Given the description of an element on the screen output the (x, y) to click on. 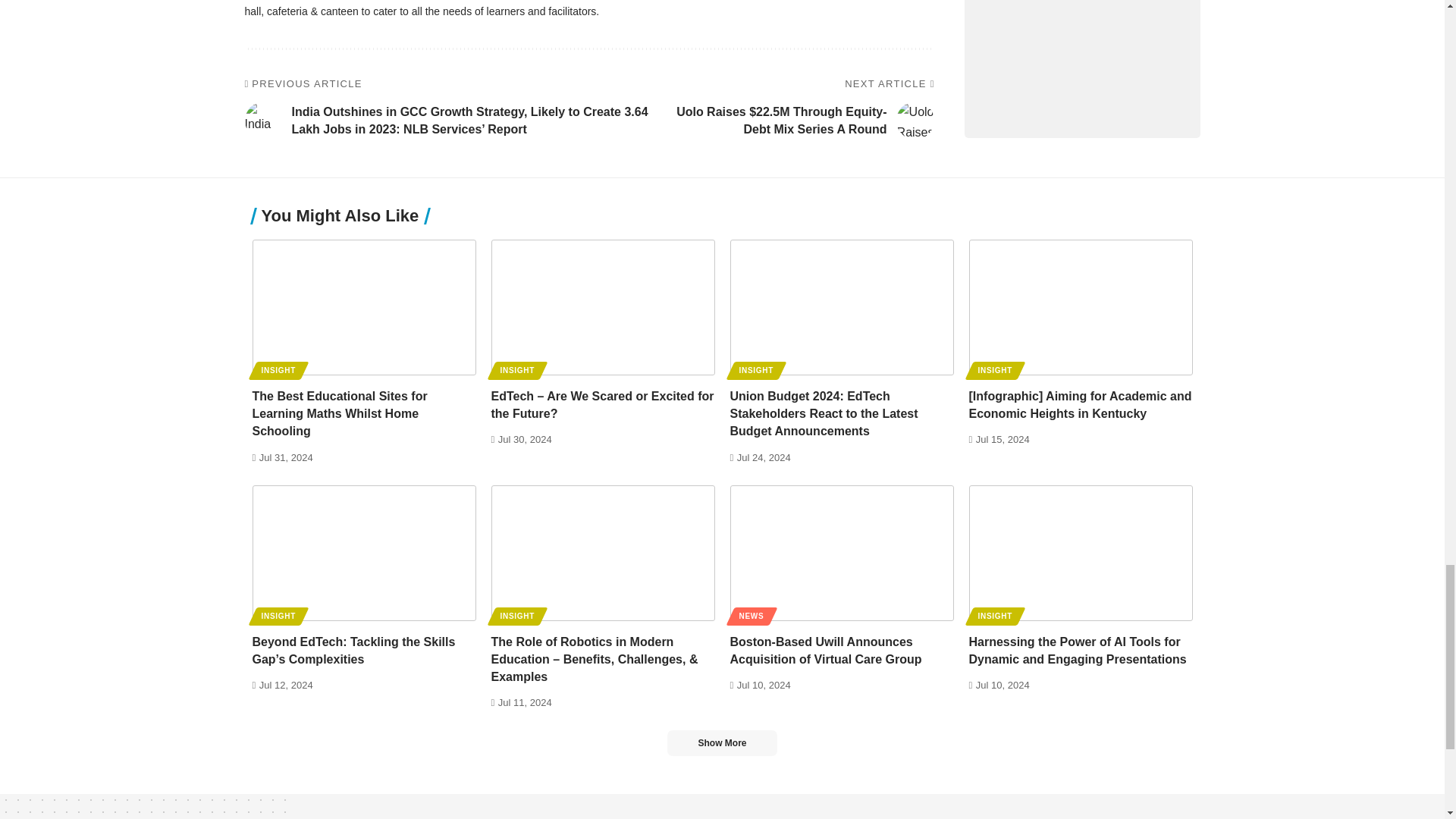
Uolo Raises .5m Through Equity-debt Mix Series a Round (915, 120)
